Given the description of an element on the screen output the (x, y) to click on. 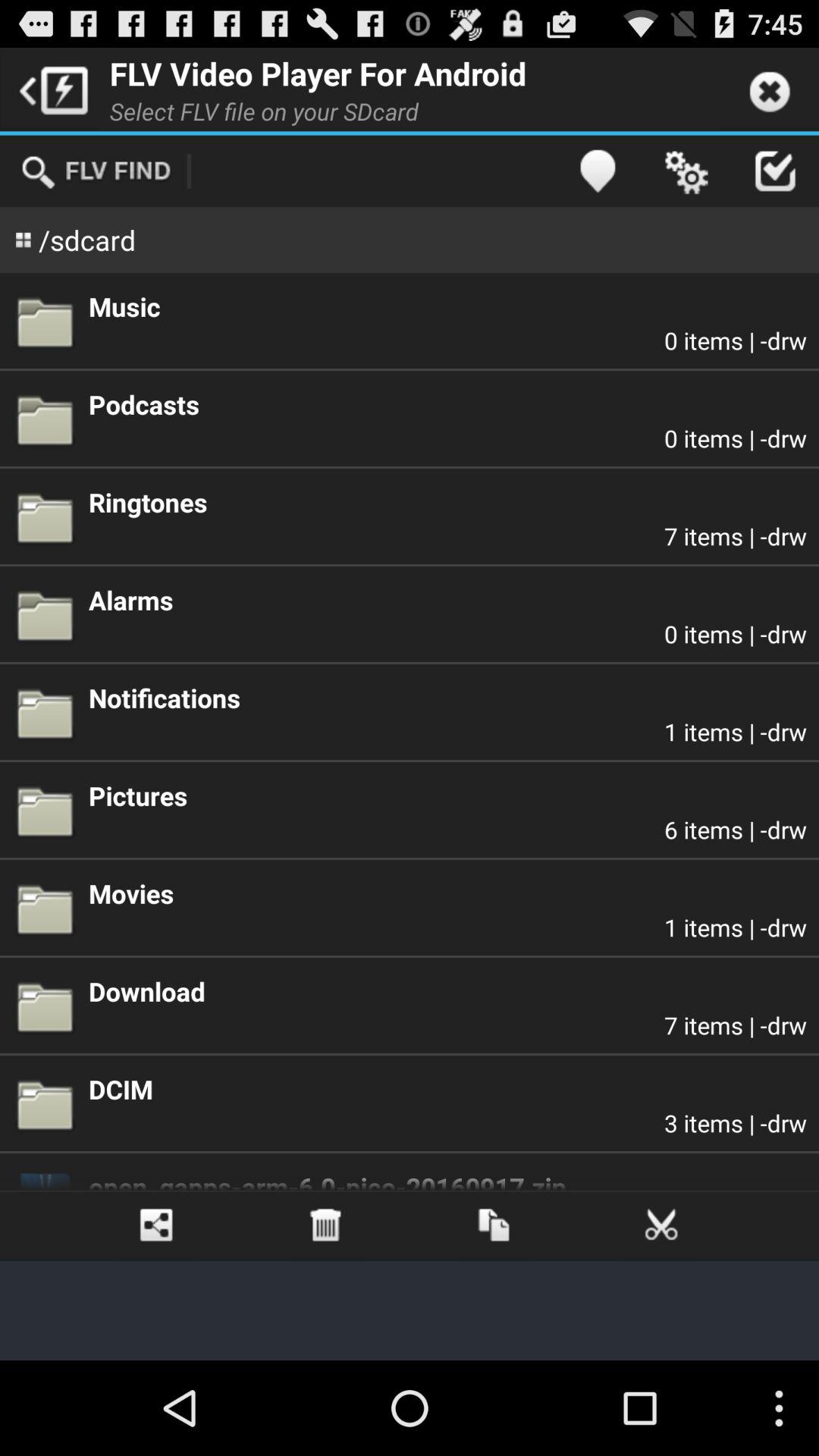
select notifications app (447, 697)
